Given the description of an element on the screen output the (x, y) to click on. 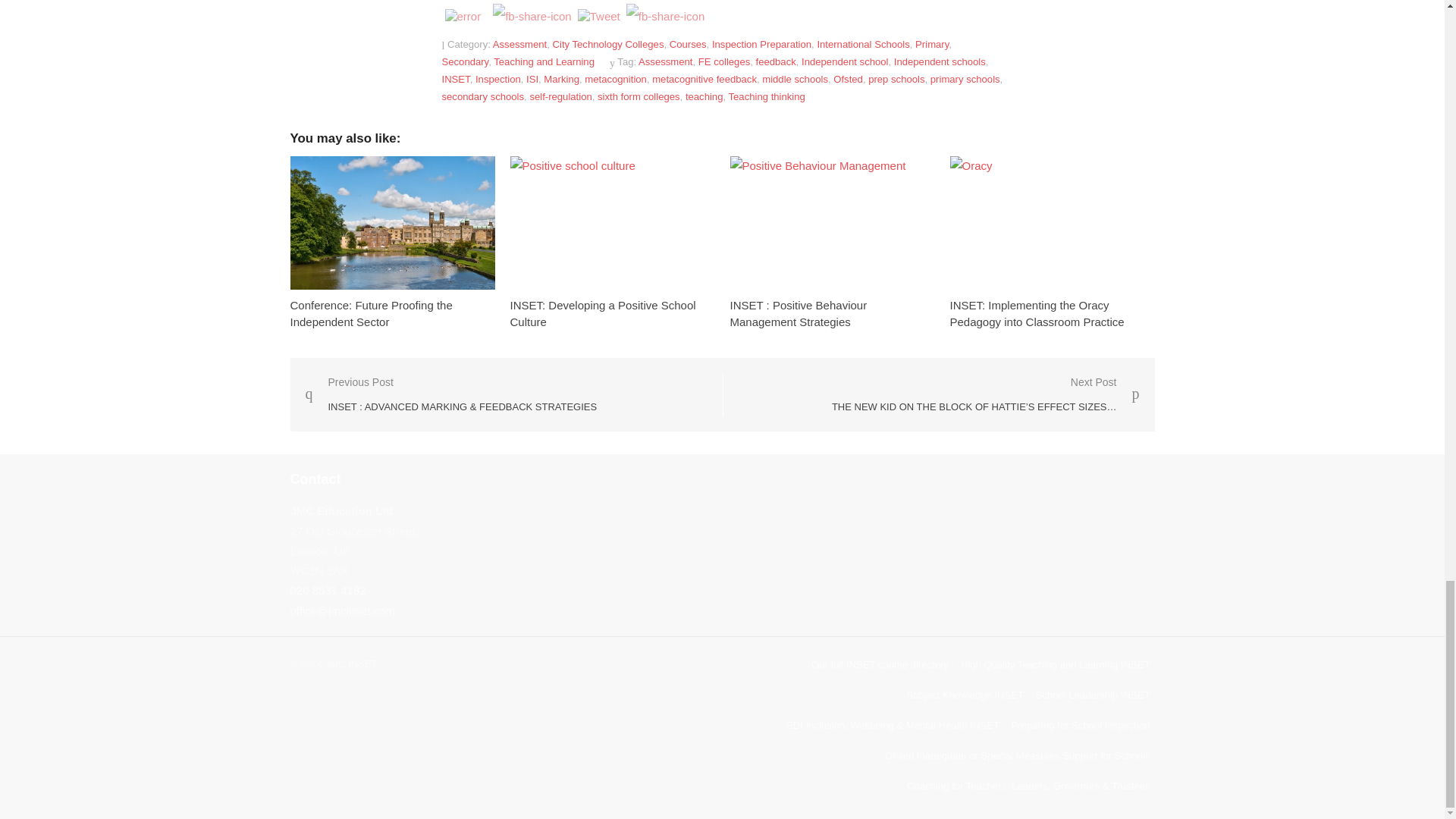
Tweet (599, 16)
Pin Share (665, 16)
Facebook Share (532, 16)
